Given the description of an element on the screen output the (x, y) to click on. 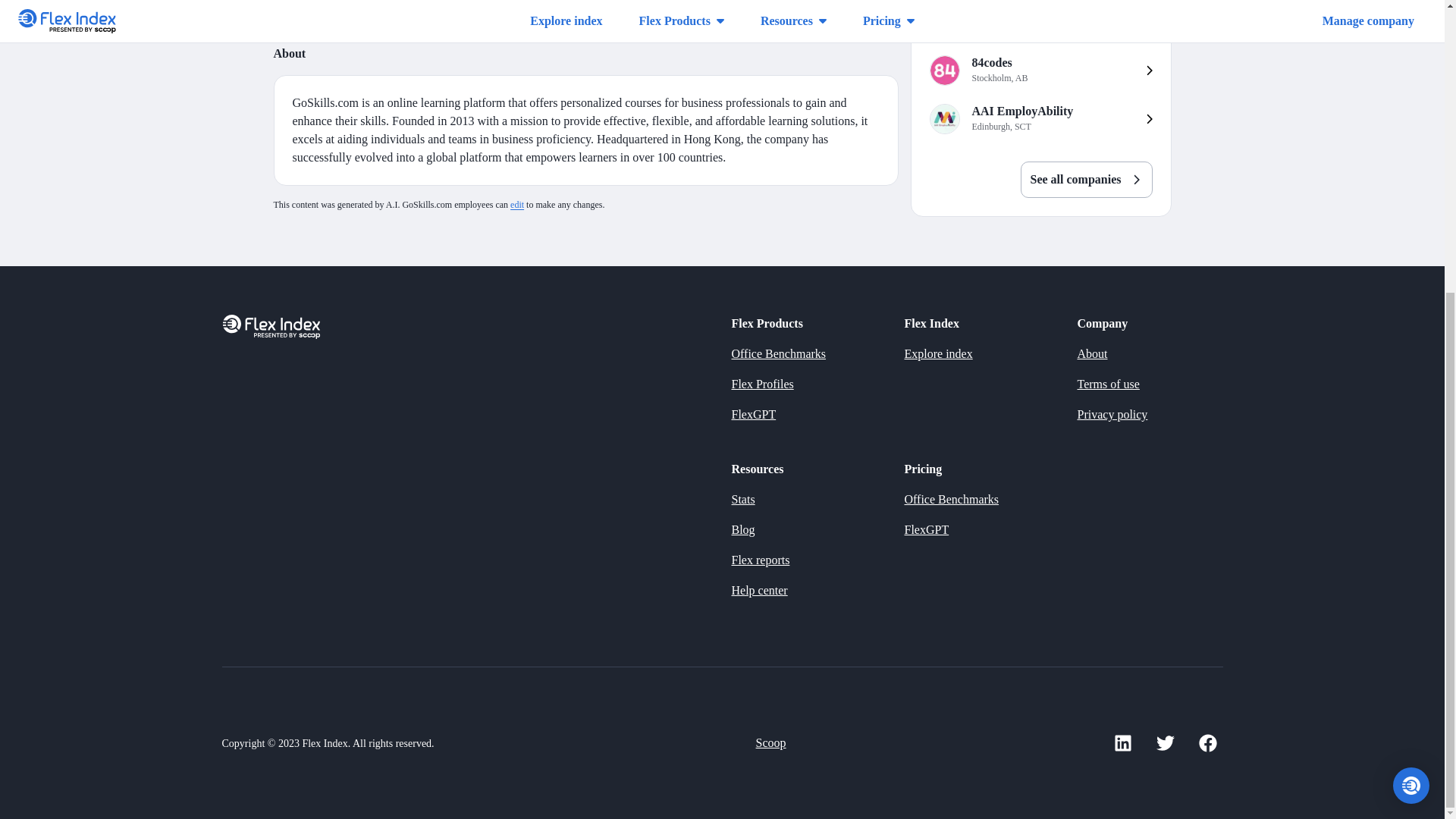
edit (517, 204)
See all companies (1040, 70)
See all companies (1040, 119)
